Given the description of an element on the screen output the (x, y) to click on. 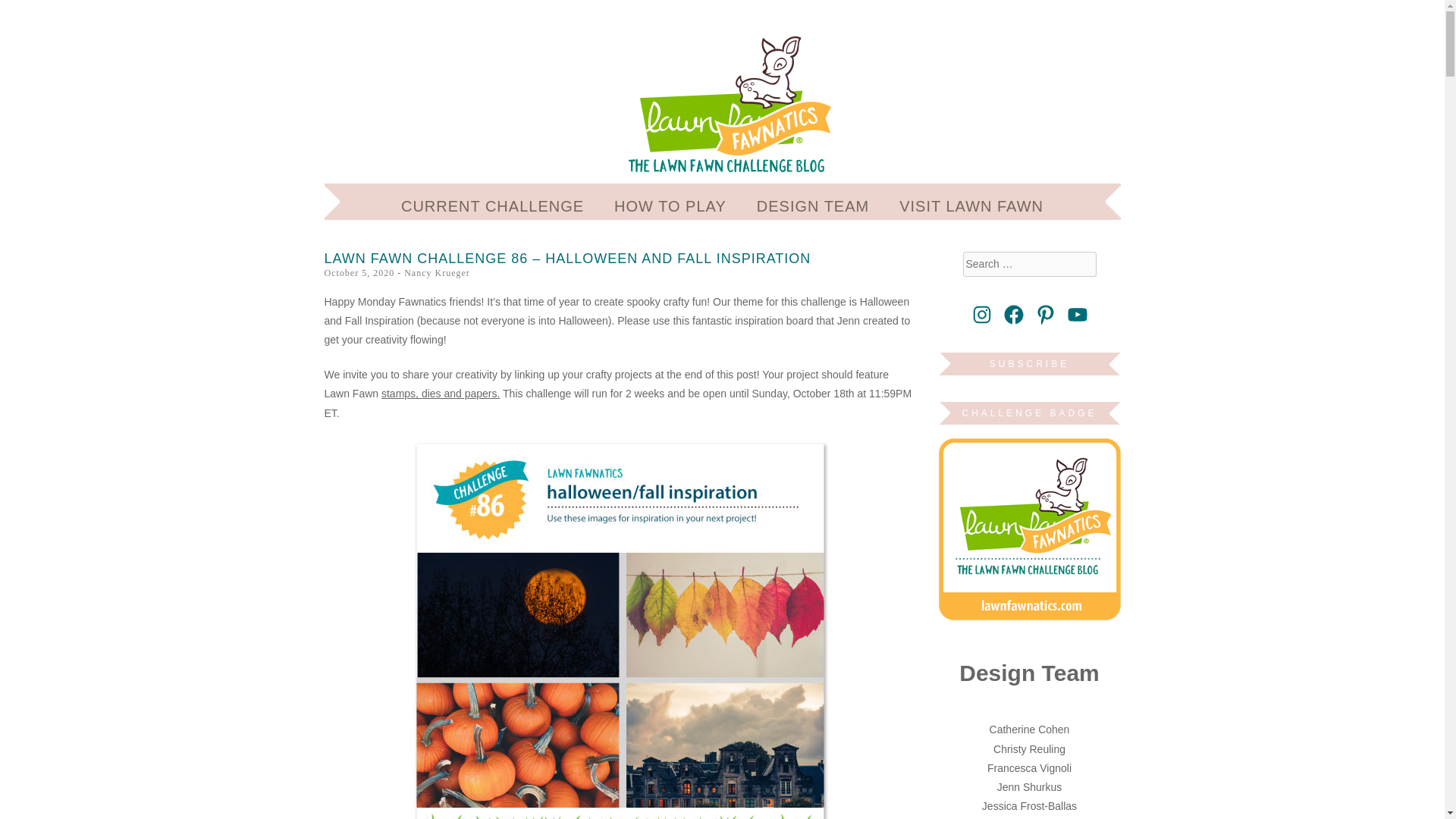
VISIT LAWN FAWN (971, 206)
October 5, 2020 (359, 272)
Nancy Krueger (437, 272)
CURRENT CHALLENGE (492, 206)
stamps, dies and papers. (440, 393)
HOW TO PLAY (670, 206)
LAWN FAWNATICS (536, 61)
DESIGN TEAM (813, 206)
